Given the description of an element on the screen output the (x, y) to click on. 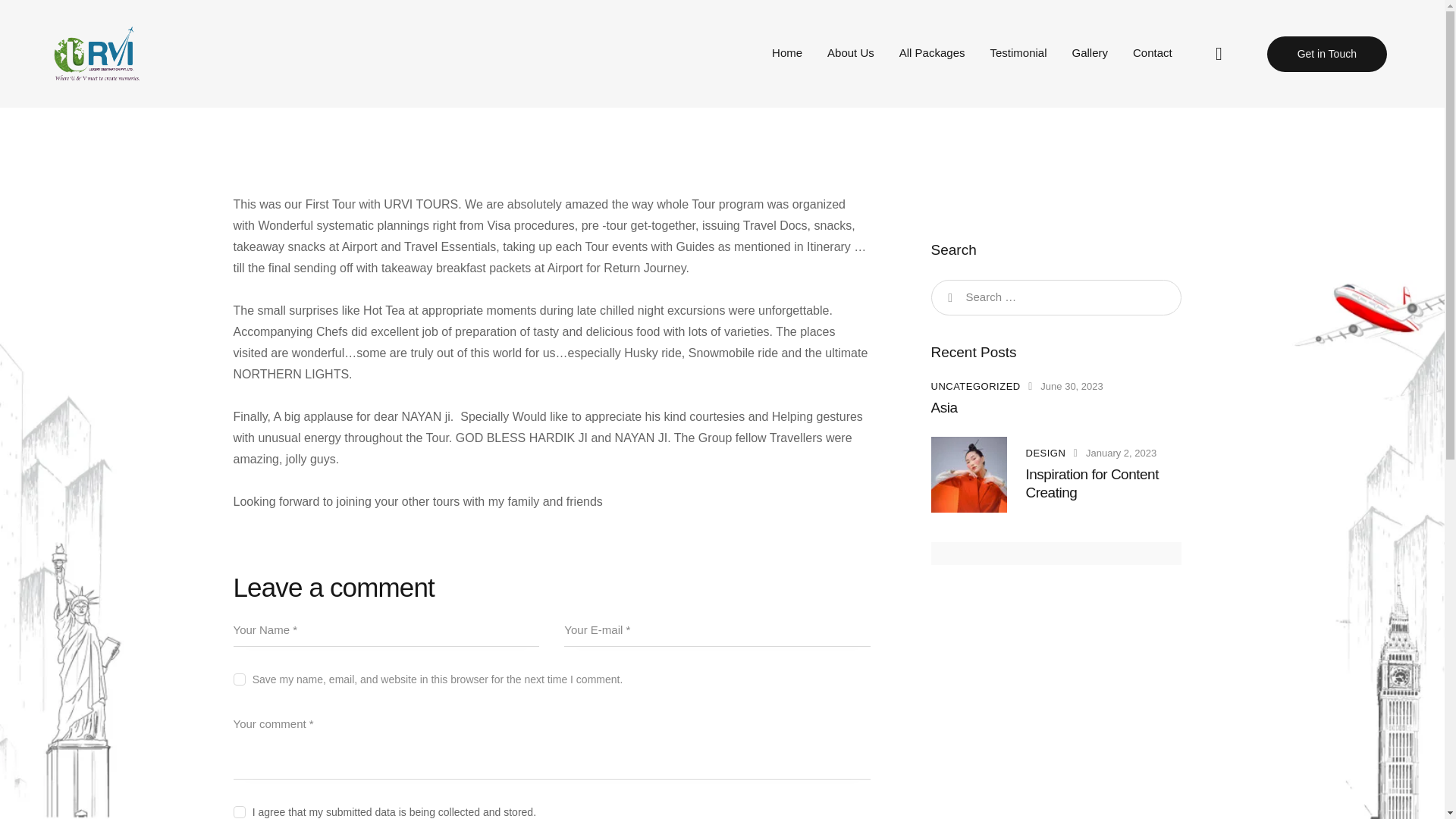
View all posts in Design (1045, 452)
Gallery (1090, 53)
View all posts in Uncategorized (975, 386)
Get in Touch (1326, 54)
All Packages (931, 53)
Home (787, 53)
Contact (1153, 53)
Testimonial (1017, 53)
1 (551, 808)
About Us (850, 53)
